Given the description of an element on the screen output the (x, y) to click on. 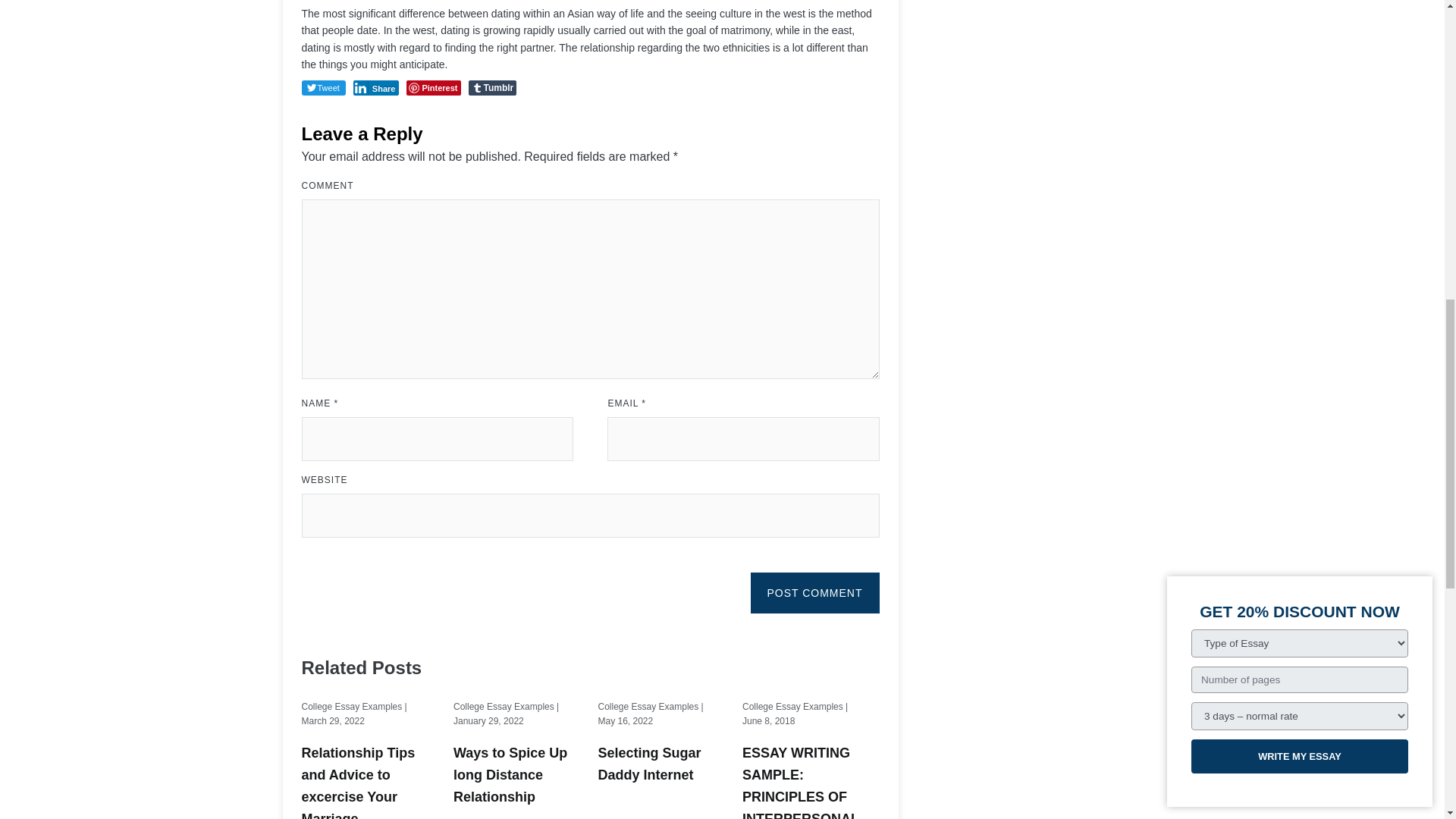
Post Comment (815, 592)
Share (375, 87)
Post Comment (815, 592)
Pinterest (433, 87)
Tumblr (492, 87)
Tweet (323, 87)
Relationship Tips and Advice to excercise Your Marriage (370, 780)
